Given the description of an element on the screen output the (x, y) to click on. 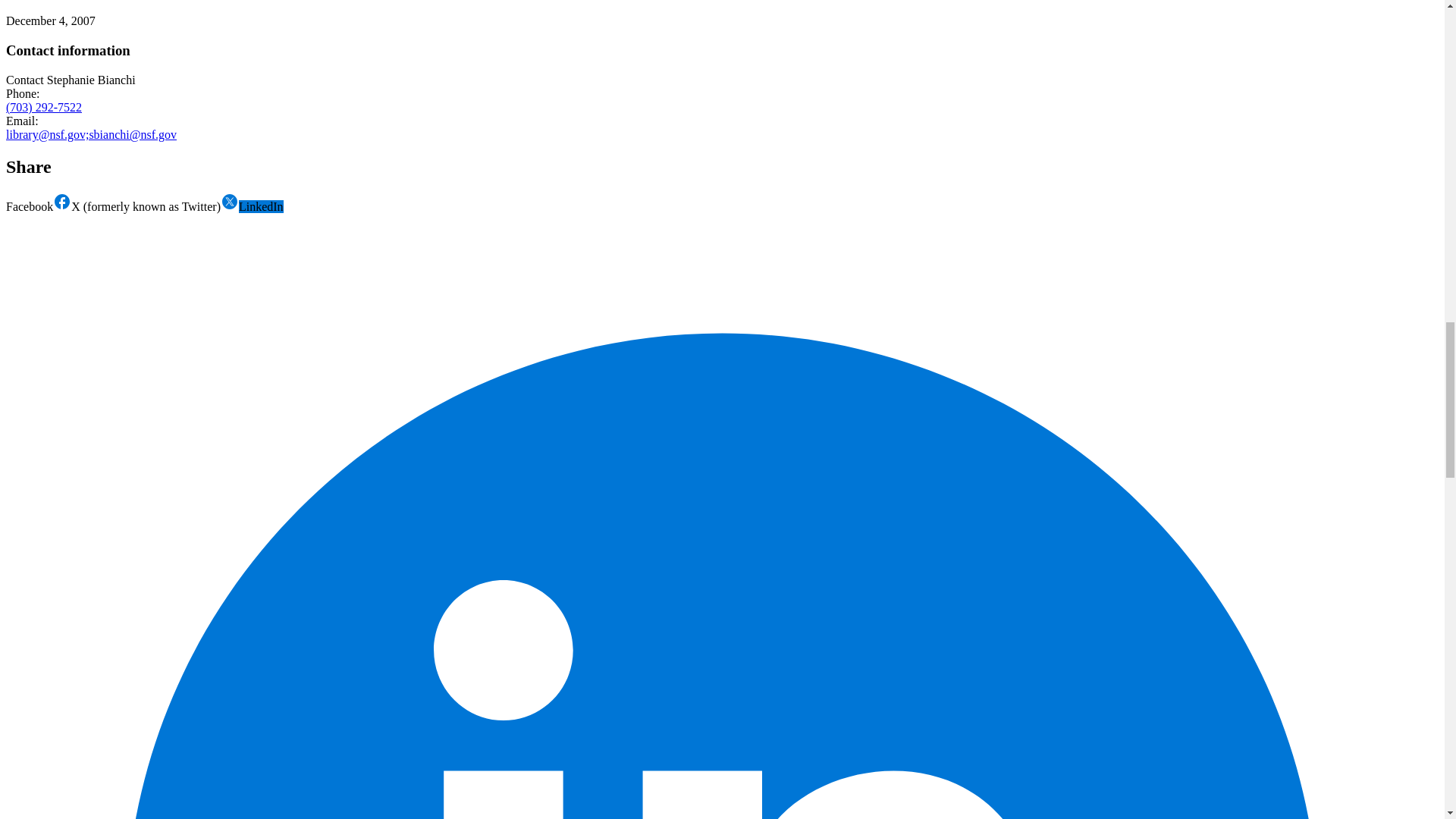
Facebook (38, 205)
